Given the description of an element on the screen output the (x, y) to click on. 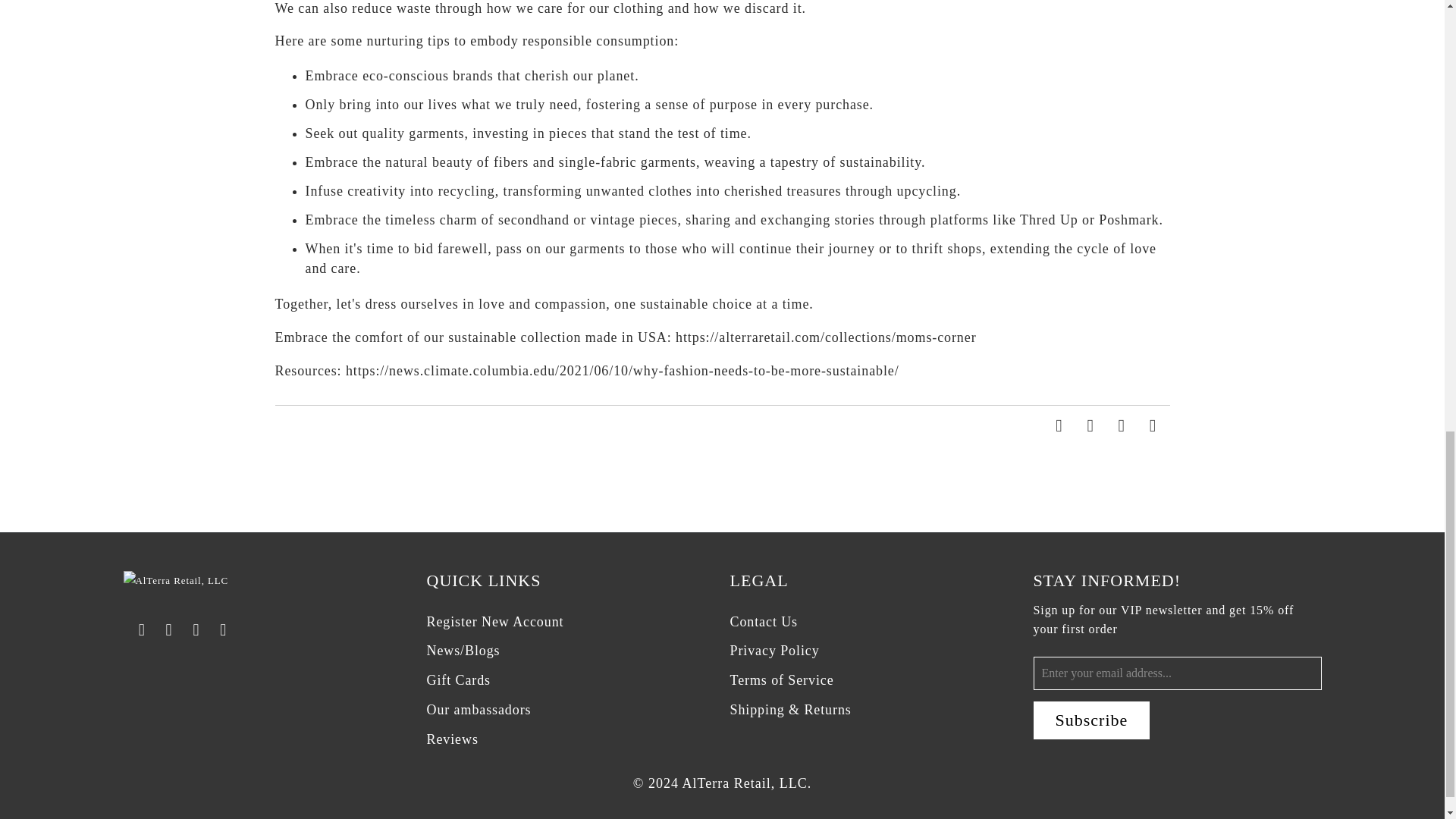
AlTerra Retail, LLC on Facebook (142, 628)
Share this on Pinterest (1121, 426)
Share this on Instagram (1090, 426)
Subscribe (1091, 720)
Email this to a friend (1152, 426)
AlTerra Retail, LLC on LinkedIn (197, 628)
Share this on Facebook (1059, 426)
AlTerra Retail, LLC on Instagram (169, 628)
AlTerra Retail, LLC on Pinterest (223, 628)
